Given the description of an element on the screen output the (x, y) to click on. 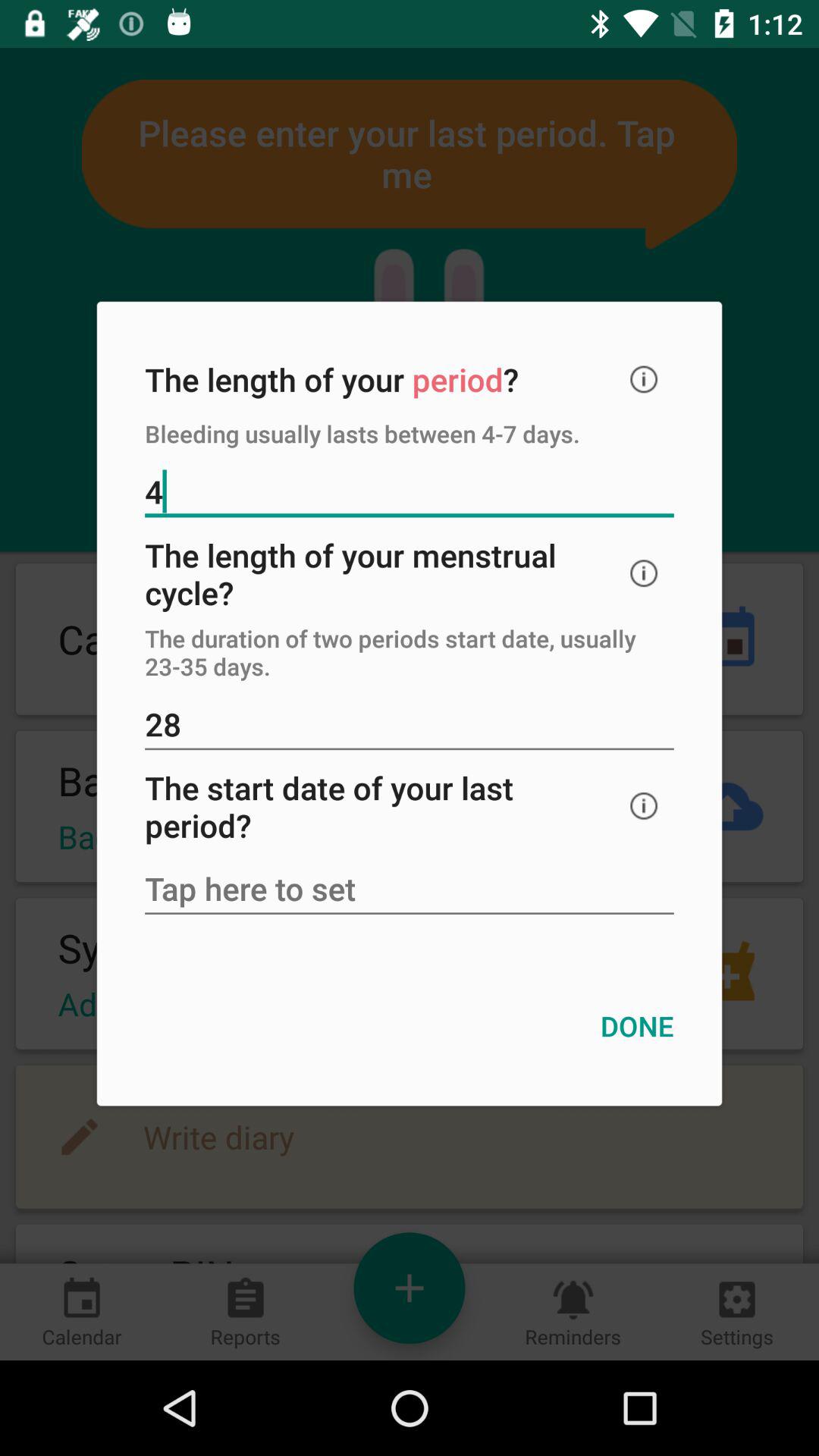
launch icon at the top right corner (643, 379)
